Given the description of an element on the screen output the (x, y) to click on. 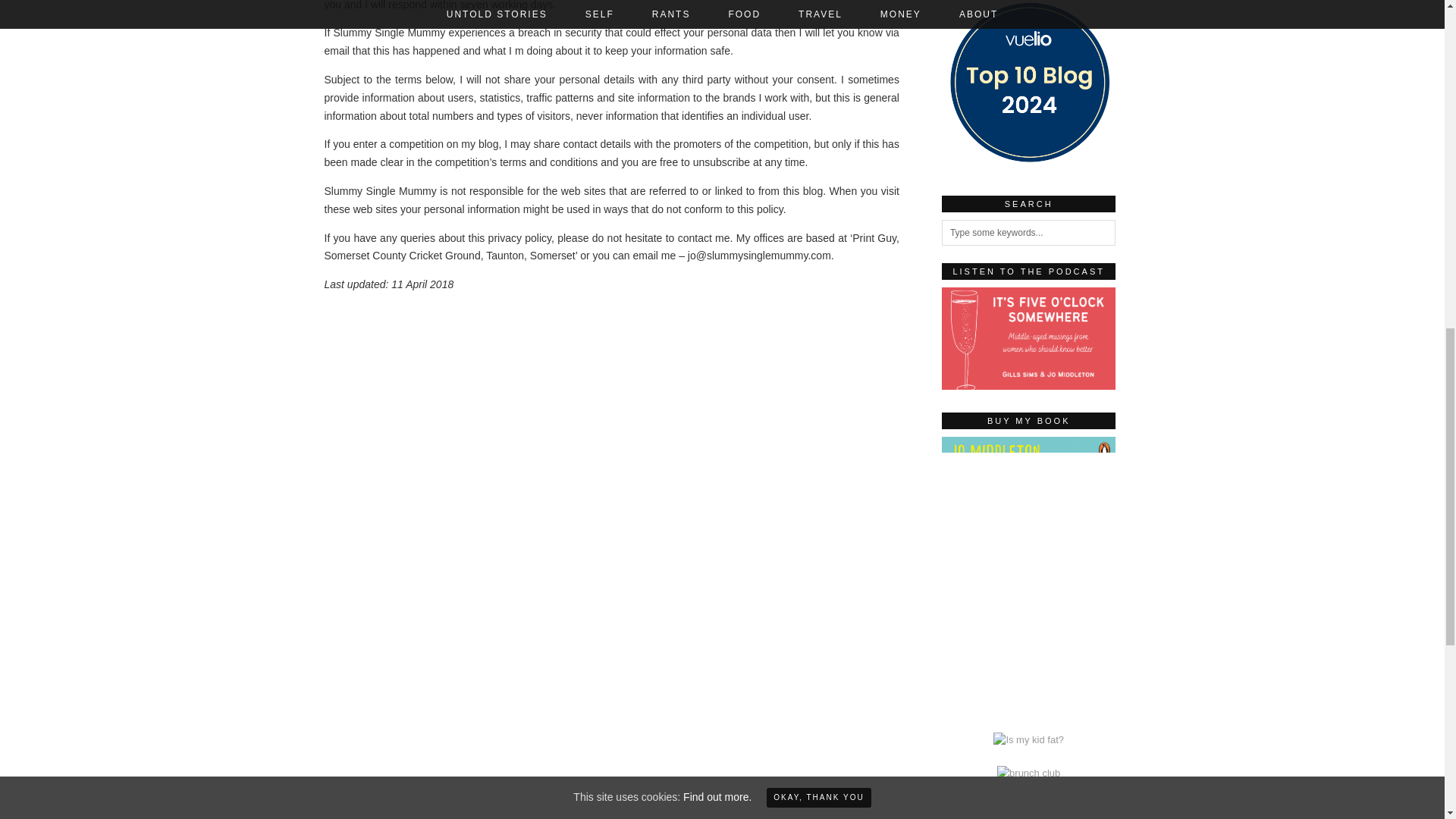
Buy my book (1029, 706)
Listen to the podcast (1029, 338)
